Given the description of an element on the screen output the (x, y) to click on. 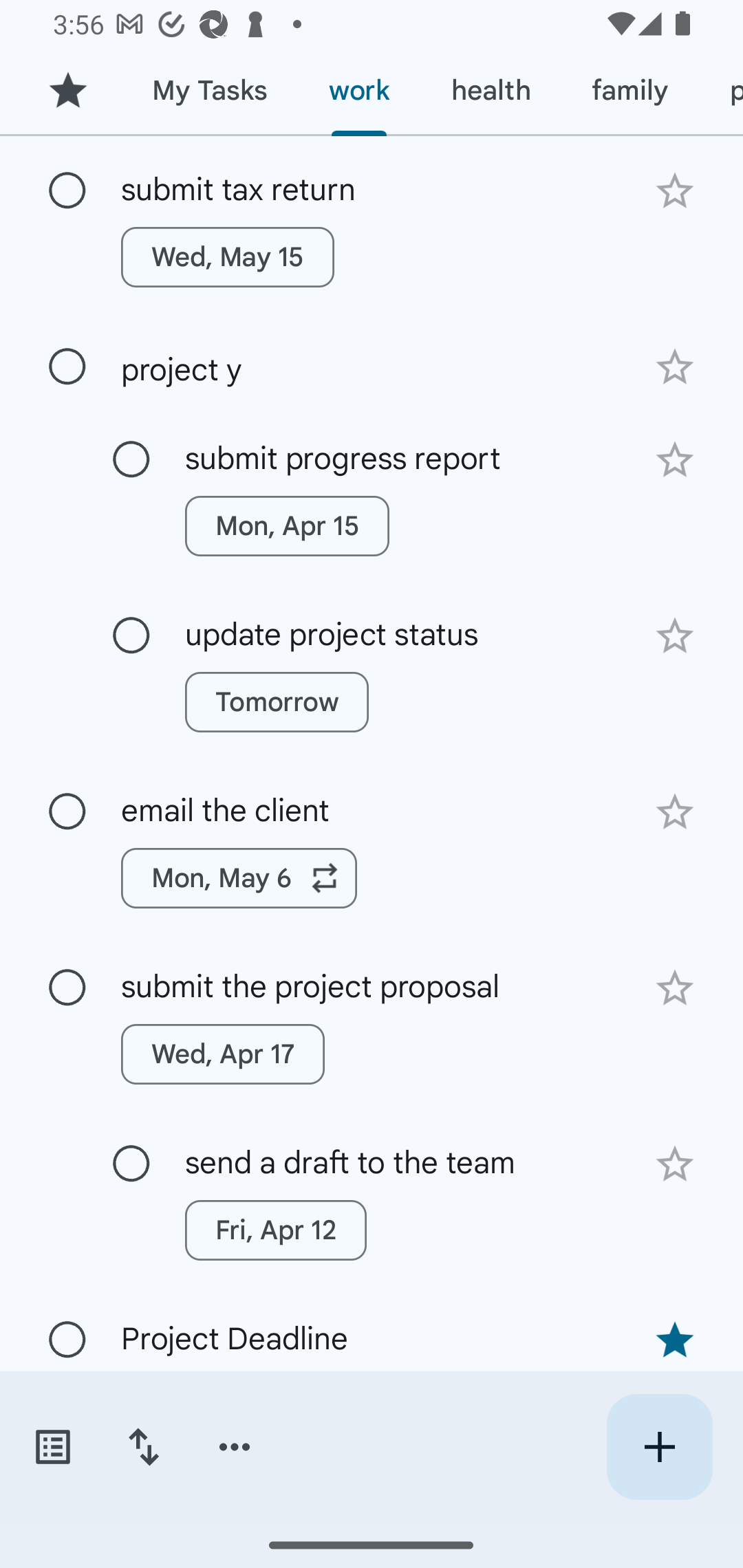
Starred (67, 90)
My Tasks (209, 90)
health (490, 90)
family (629, 90)
Add star (674, 190)
Mark as complete (67, 190)
Wed, May 15 (227, 256)
Add star (674, 366)
Mark as complete (67, 367)
Add star (674, 458)
Mark as complete (131, 459)
Mon, Apr 15 (287, 525)
Add star (674, 636)
Mark as complete (131, 635)
Tomorrow (276, 701)
Add star (674, 811)
Mark as complete (67, 812)
Mon, May 6 (239, 877)
Add star (674, 987)
Mark as complete (67, 988)
Wed, Apr 17 (222, 1053)
Add star (674, 1163)
Mark as complete (131, 1163)
Fri, Apr 12 (276, 1230)
Remove star (674, 1340)
Mark as complete (67, 1339)
Switch task lists (52, 1447)
Create new task (659, 1446)
Change sort order (143, 1446)
More options (234, 1446)
